Given the description of an element on the screen output the (x, y) to click on. 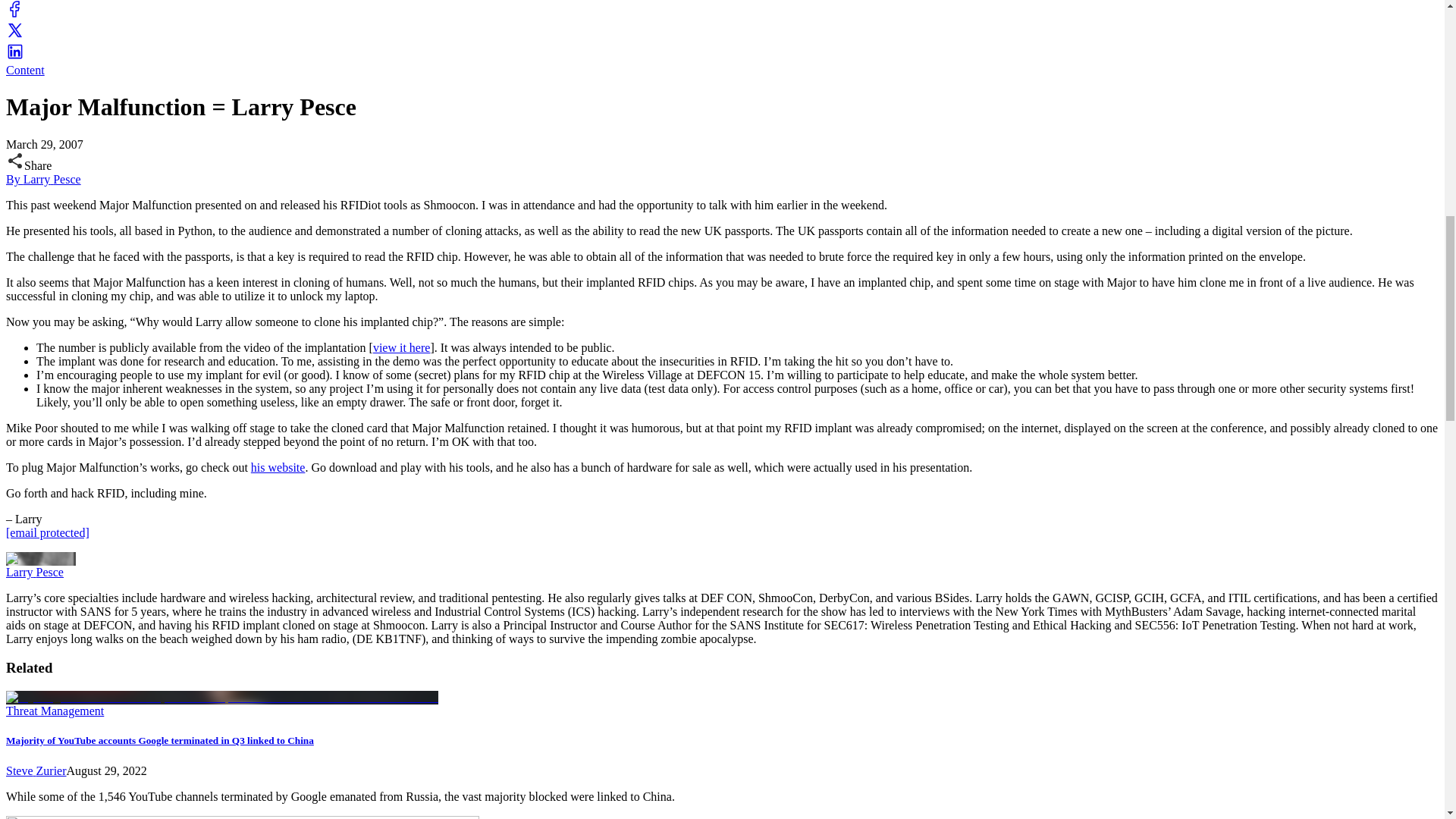
Content (25, 69)
facebook (14, 13)
linkedin (14, 56)
view it here (401, 347)
Larry Pesce (34, 571)
his website (277, 467)
twitter (14, 34)
By Larry Pesce (43, 178)
Threat Management (54, 710)
Steve Zurier (35, 770)
